Given the description of an element on the screen output the (x, y) to click on. 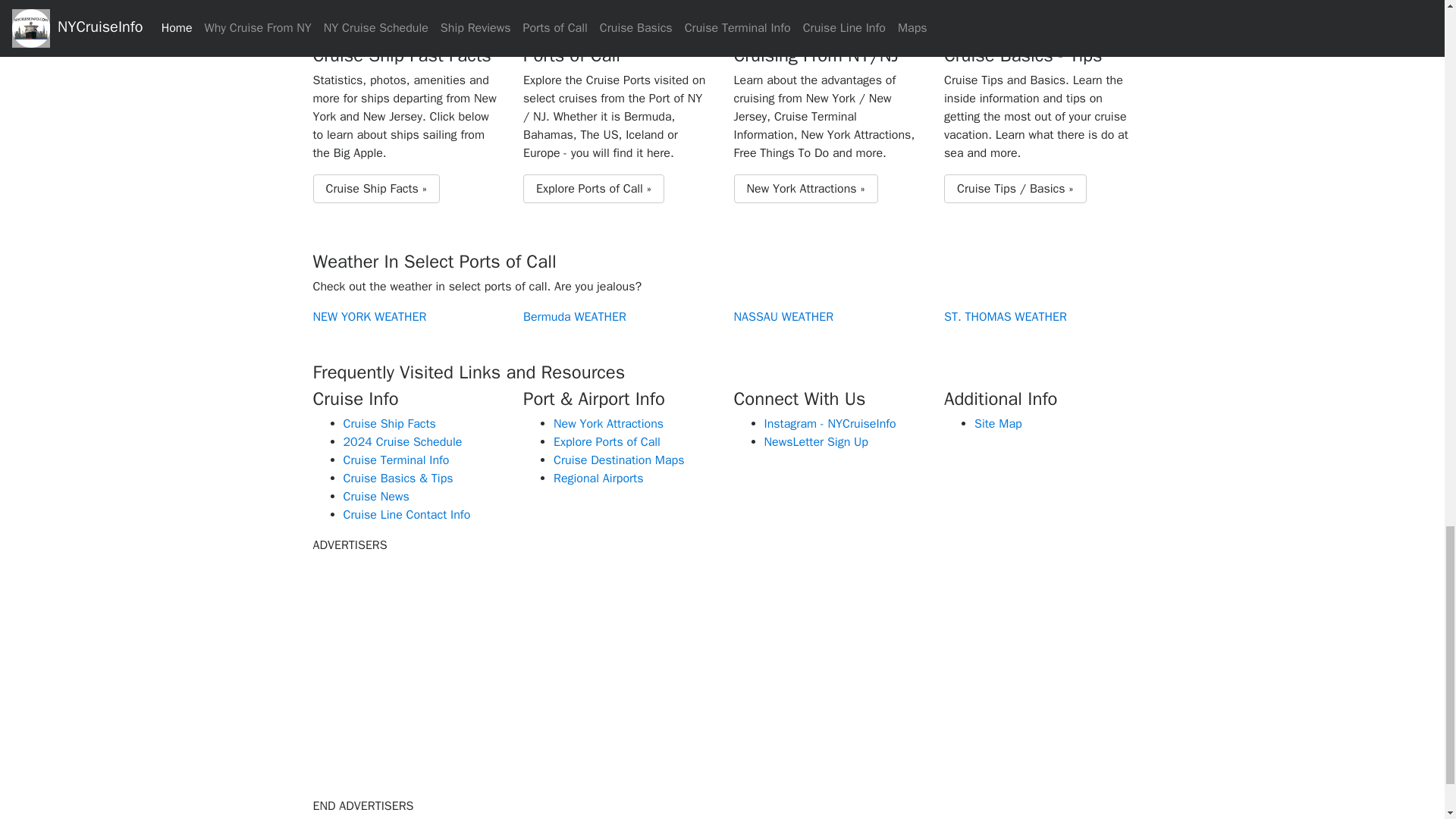
Advertisement (441, 672)
Advertisement (721, 672)
Advertisement (1002, 672)
